Given the description of an element on the screen output the (x, y) to click on. 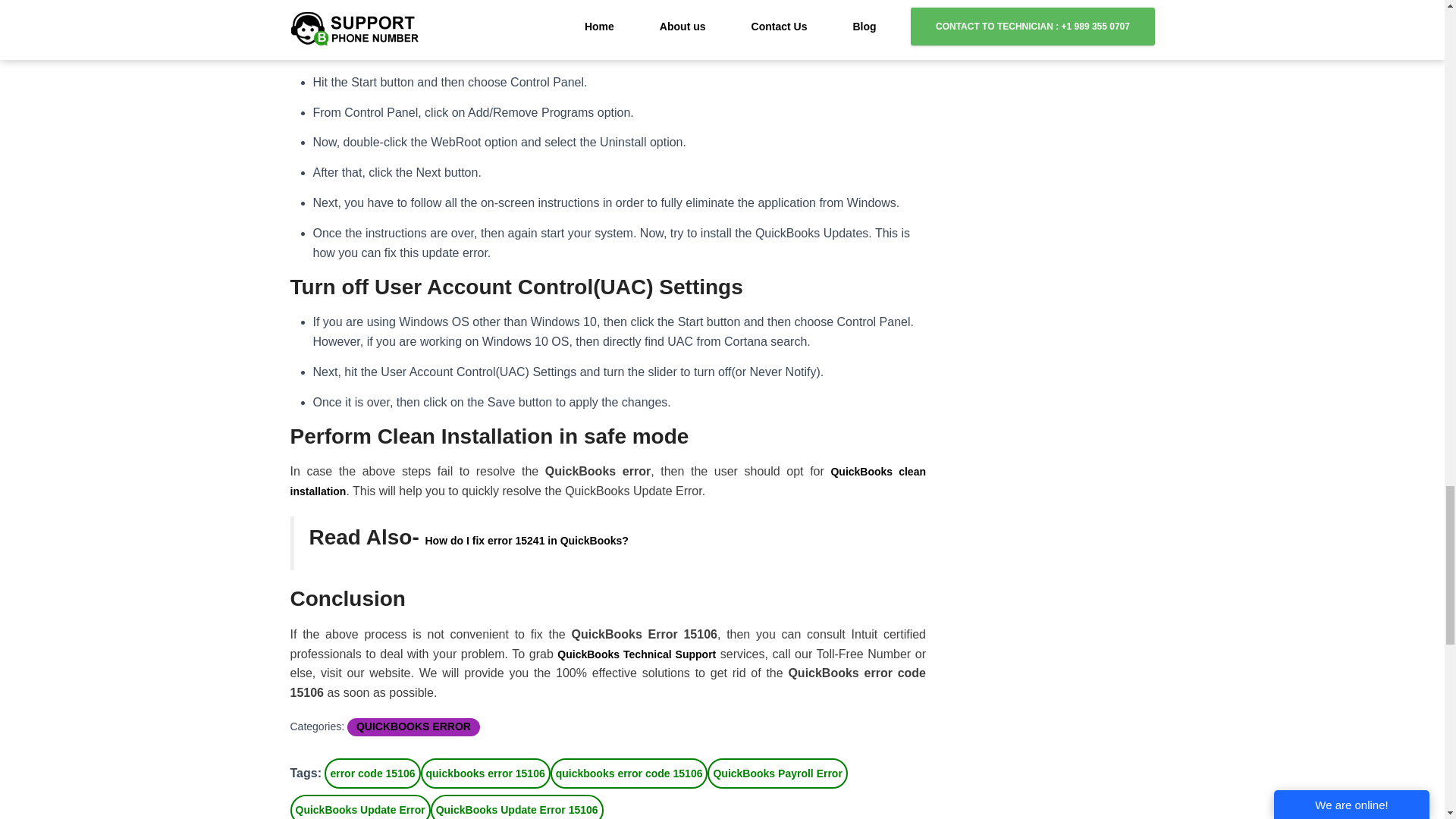
QuickBooks Technical Support (636, 654)
error code 15106 (372, 773)
QuickBooks Payroll Error (777, 773)
How do I fix error 15241 in QuickBooks? (526, 540)
QuickBooks Update Error (359, 806)
quickbooks error code 15106 (628, 773)
QuickBooks Update Error 15106 (517, 806)
QUICKBOOKS ERROR (413, 726)
quickbooks error 15106 (485, 773)
QuickBooks clean installation (607, 481)
